Given the description of an element on the screen output the (x, y) to click on. 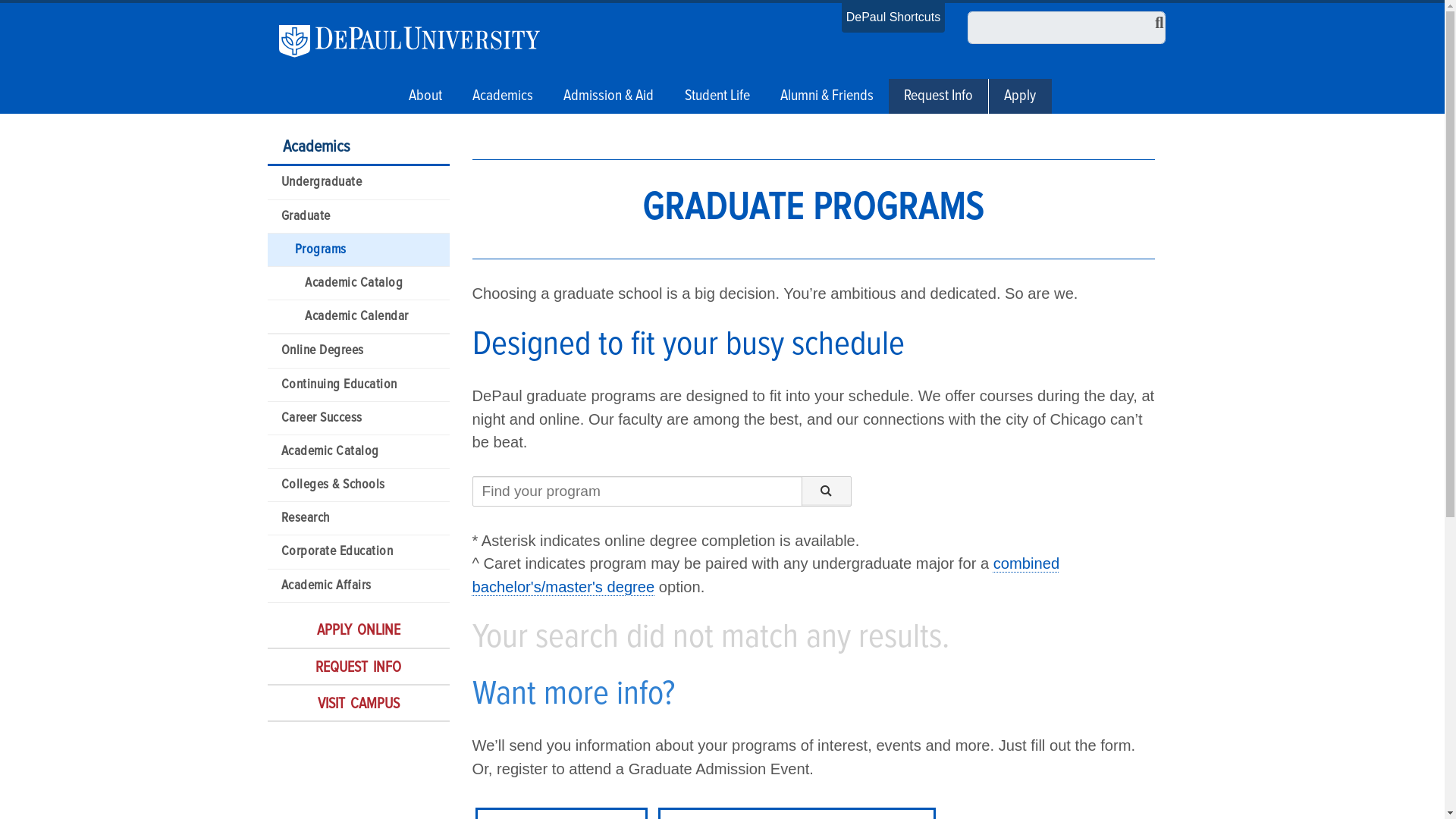
DePaul Shortcuts (892, 17)
DePaul University (418, 41)
